Given the description of an element on the screen output the (x, y) to click on. 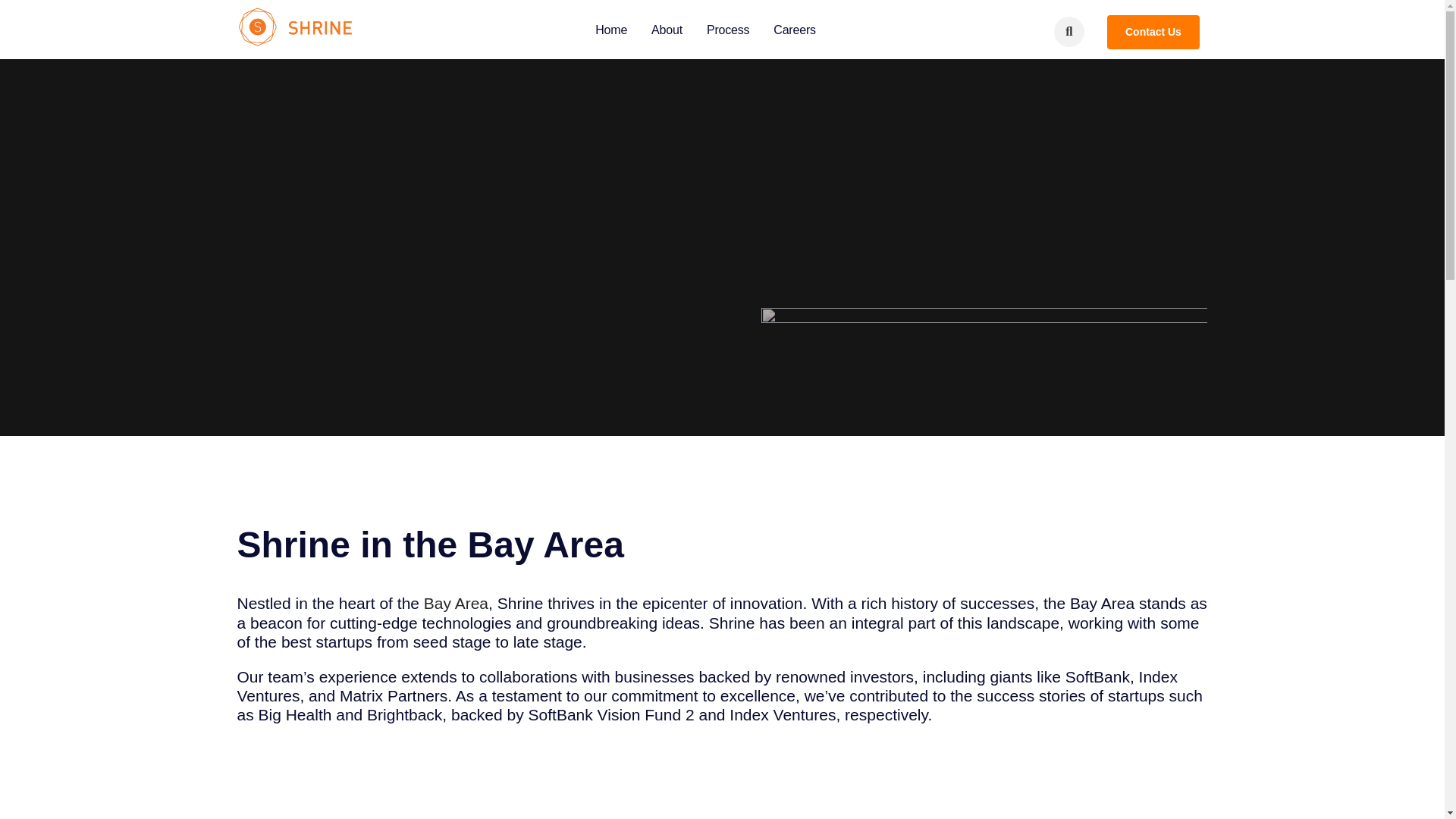
Bay Area (455, 602)
Careers (794, 29)
Contact Us (705, 29)
Process (1152, 32)
